Given the description of an element on the screen output the (x, y) to click on. 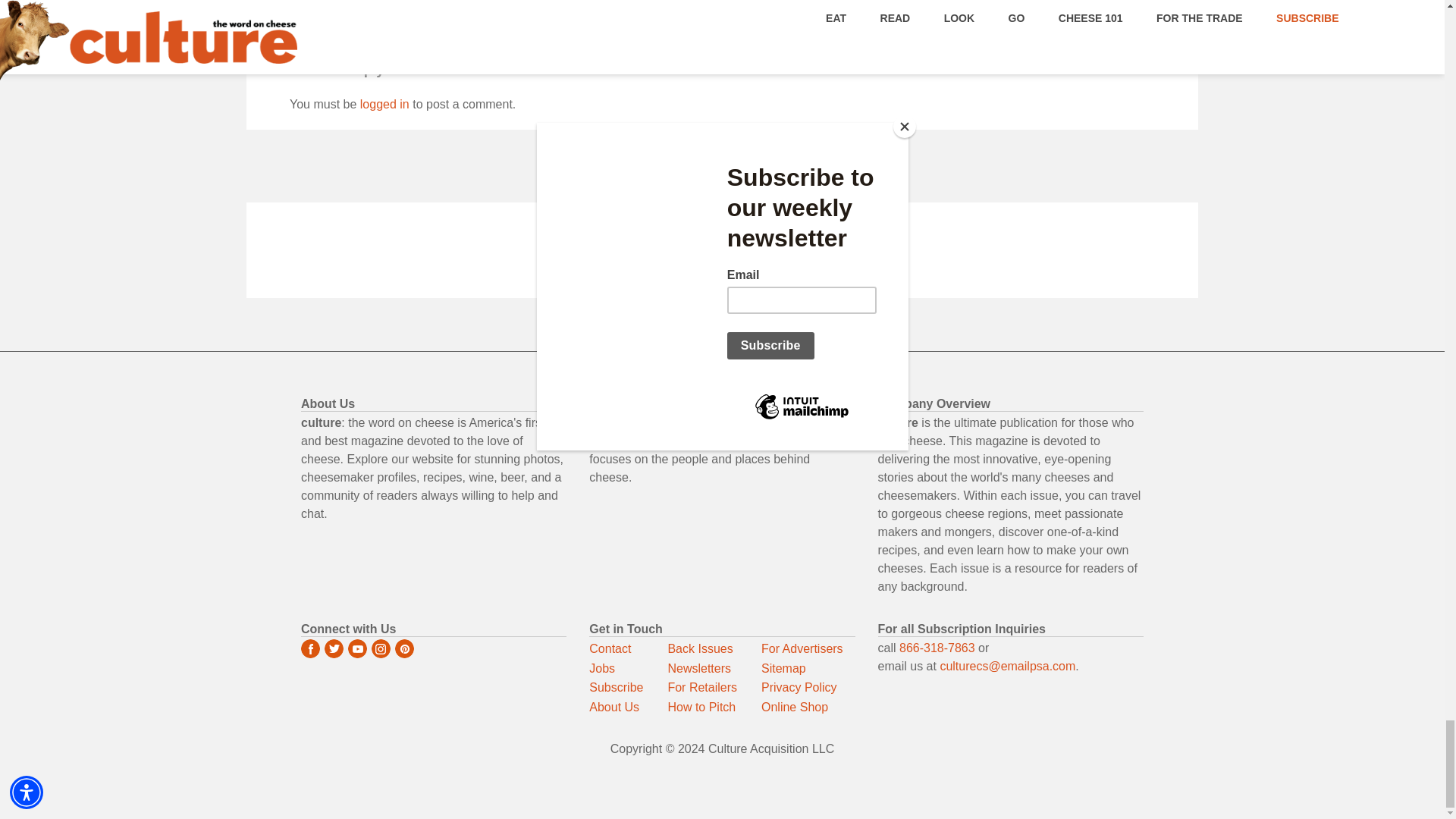
3rd party ad content (721, 251)
